Given the description of an element on the screen output the (x, y) to click on. 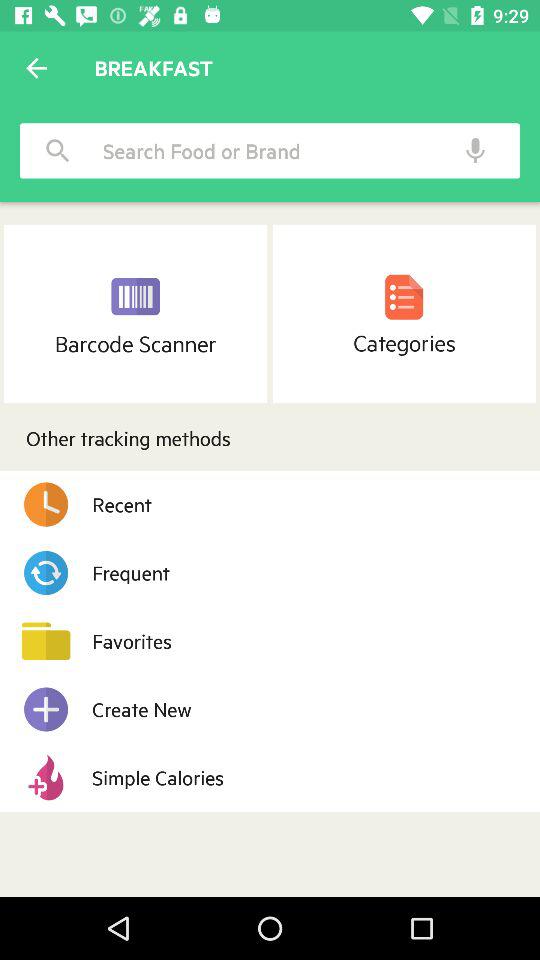
choose item above the categories item (475, 150)
